Given the description of an element on the screen output the (x, y) to click on. 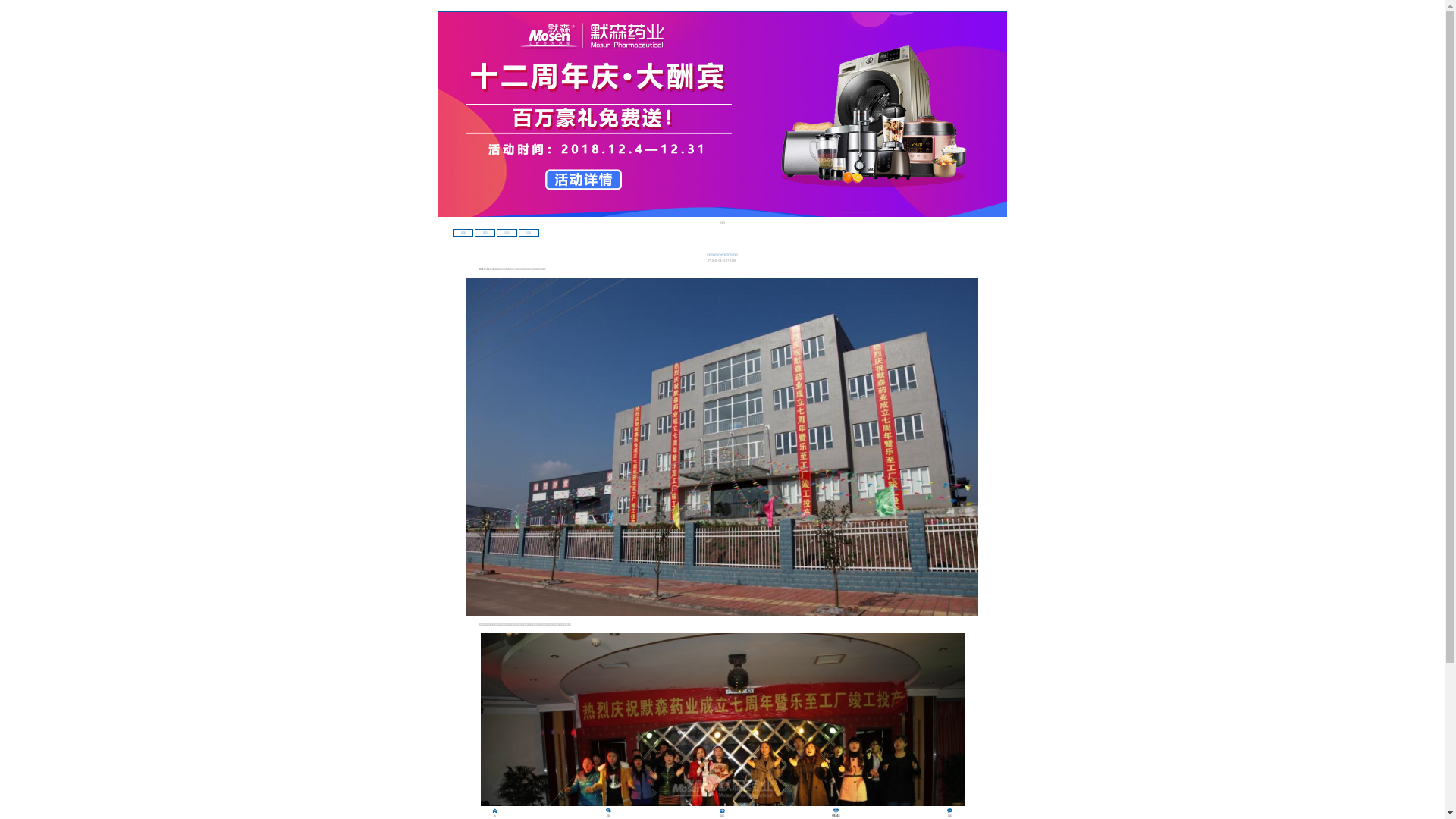
1523863589126242.jpg Element type: hover (722, 446)
